Given the description of an element on the screen output the (x, y) to click on. 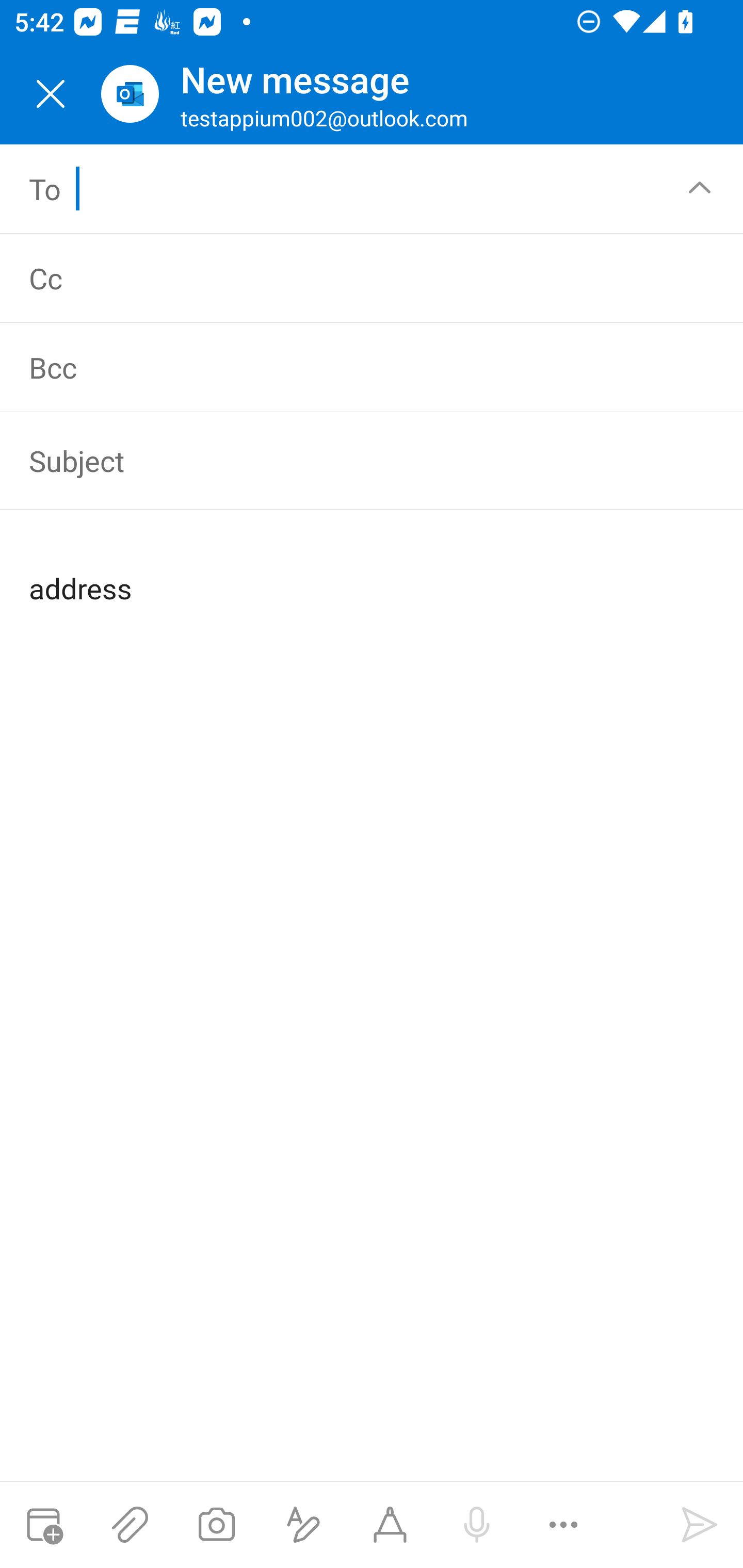
Close (50, 93)
Subject (342, 460)

address (372, 571)
Attach meeting (43, 1524)
Attach files (129, 1524)
Take a photo (216, 1524)
Show formatting options (303, 1524)
Start Ink compose (389, 1524)
More options (563, 1524)
Send (699, 1524)
